Given the description of an element on the screen output the (x, y) to click on. 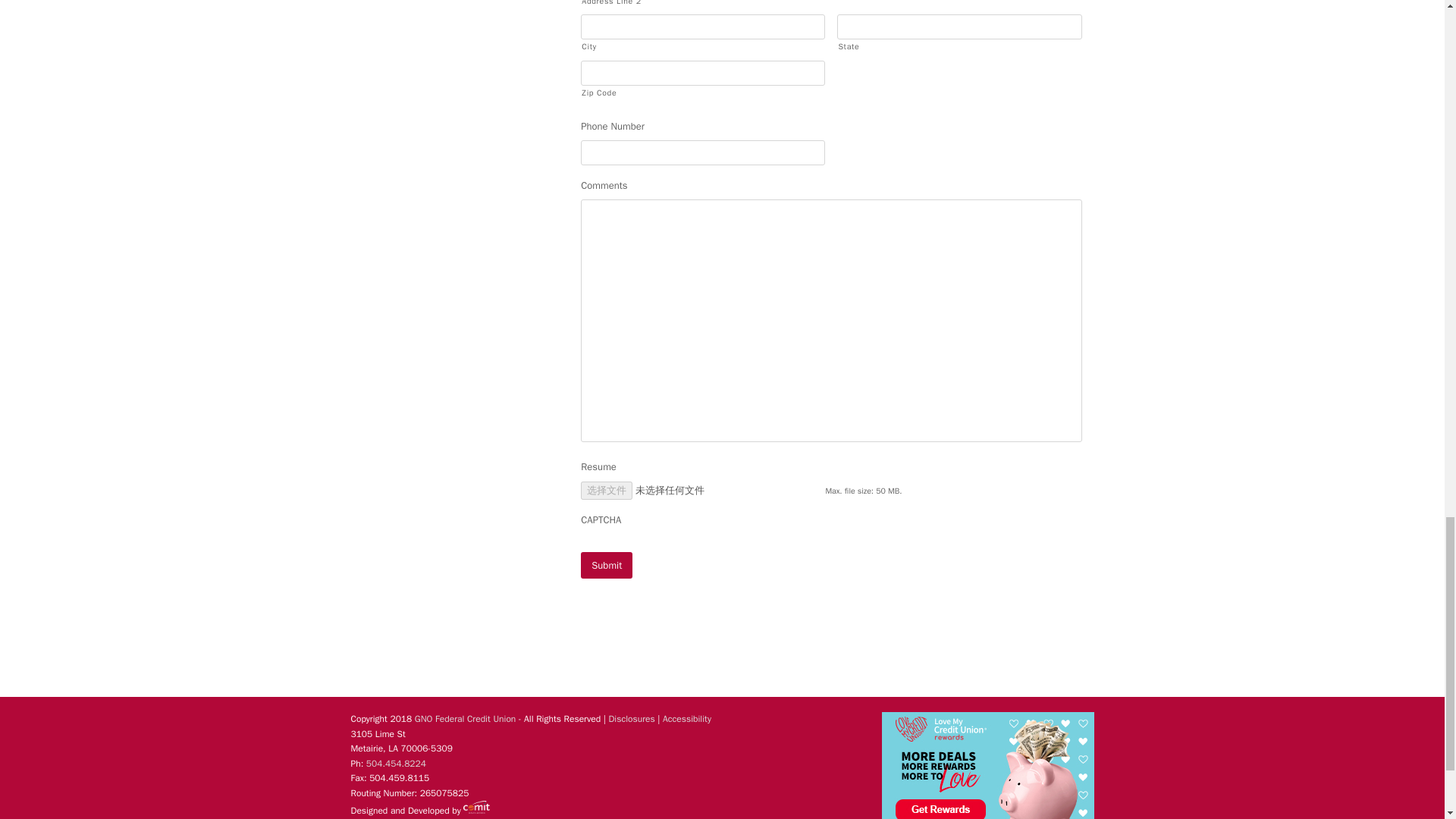
All Bundle From Love My Credit Union Rewards (986, 765)
Submit (605, 565)
